Given the description of an element on the screen output the (x, y) to click on. 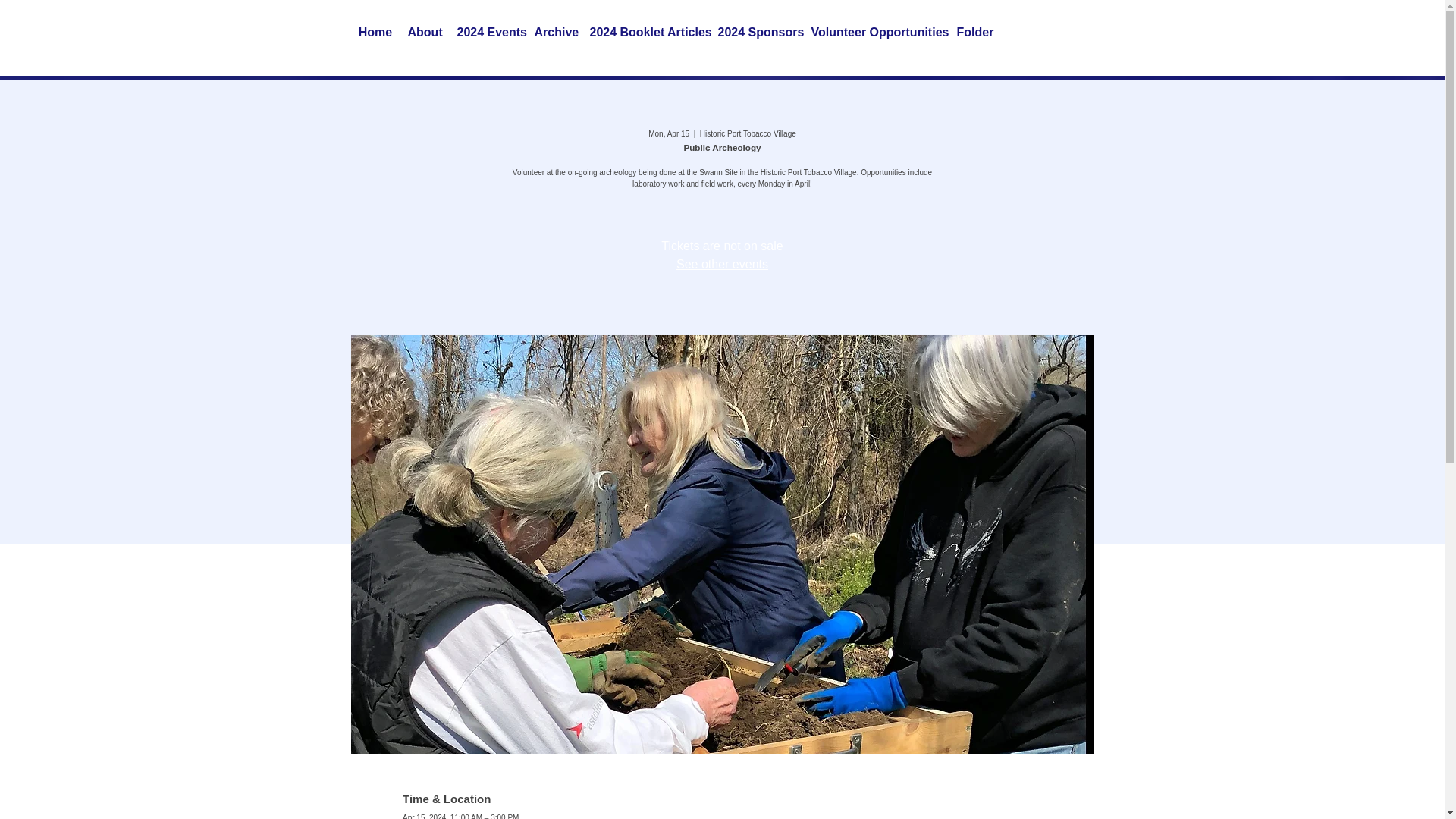
Volunteer Opportunities (876, 32)
See other events (722, 264)
2024 Events (486, 32)
About (424, 32)
Home (374, 32)
Archive (552, 32)
2024 Sponsors (756, 32)
2024 Booklet Articles (646, 32)
